Given the description of an element on the screen output the (x, y) to click on. 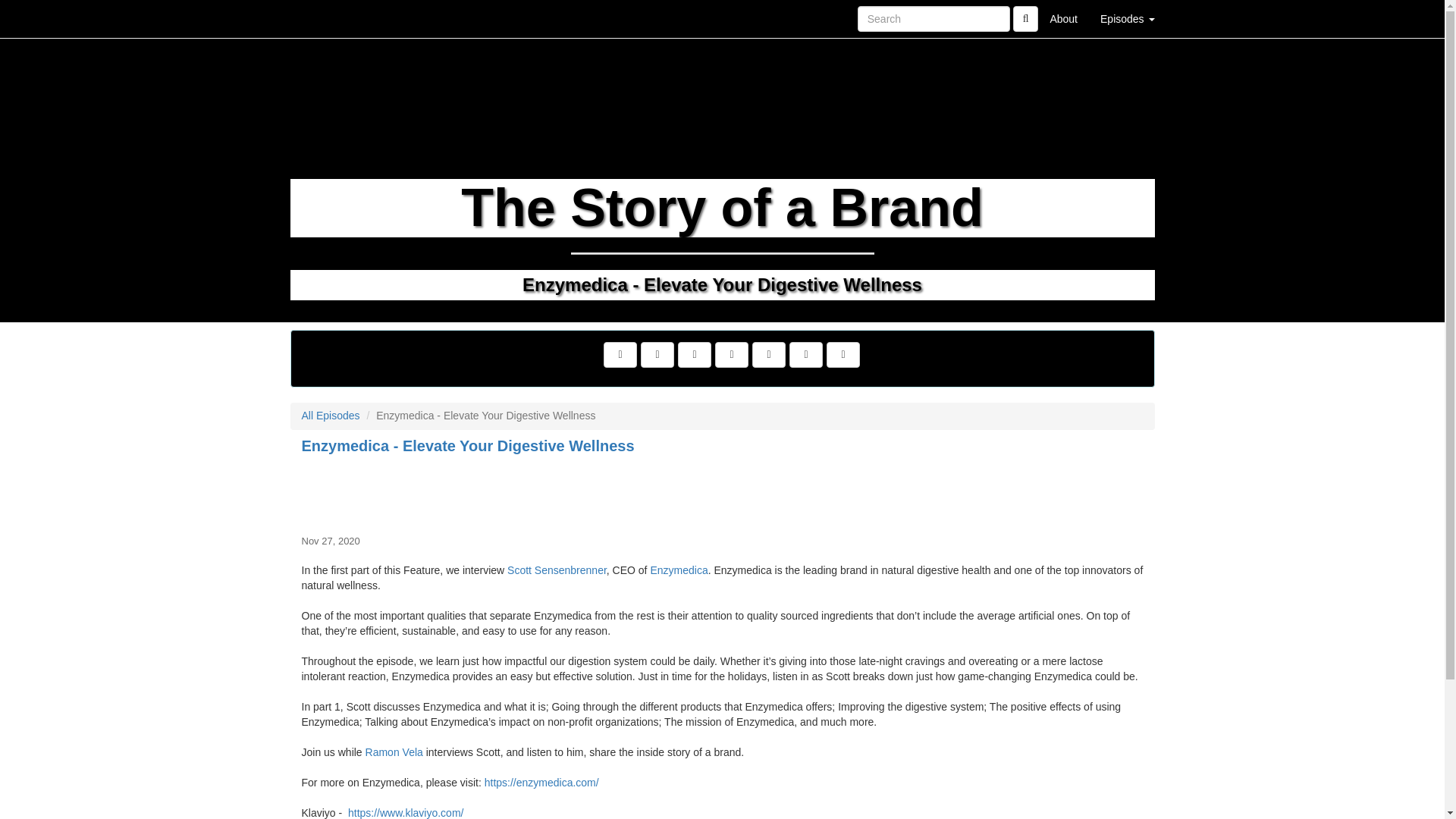
Home Page (320, 18)
About (1063, 18)
Episodes (1127, 18)
Enzymedica - Elevate Your Digestive Wellness (721, 491)
